Given the description of an element on the screen output the (x, y) to click on. 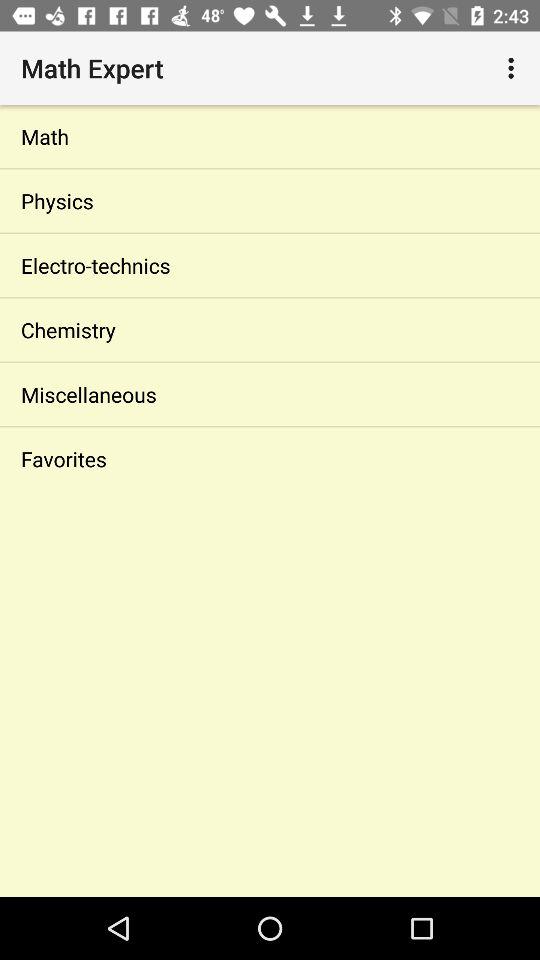
press the item above electro-technics app (270, 200)
